Given the description of an element on the screen output the (x, y) to click on. 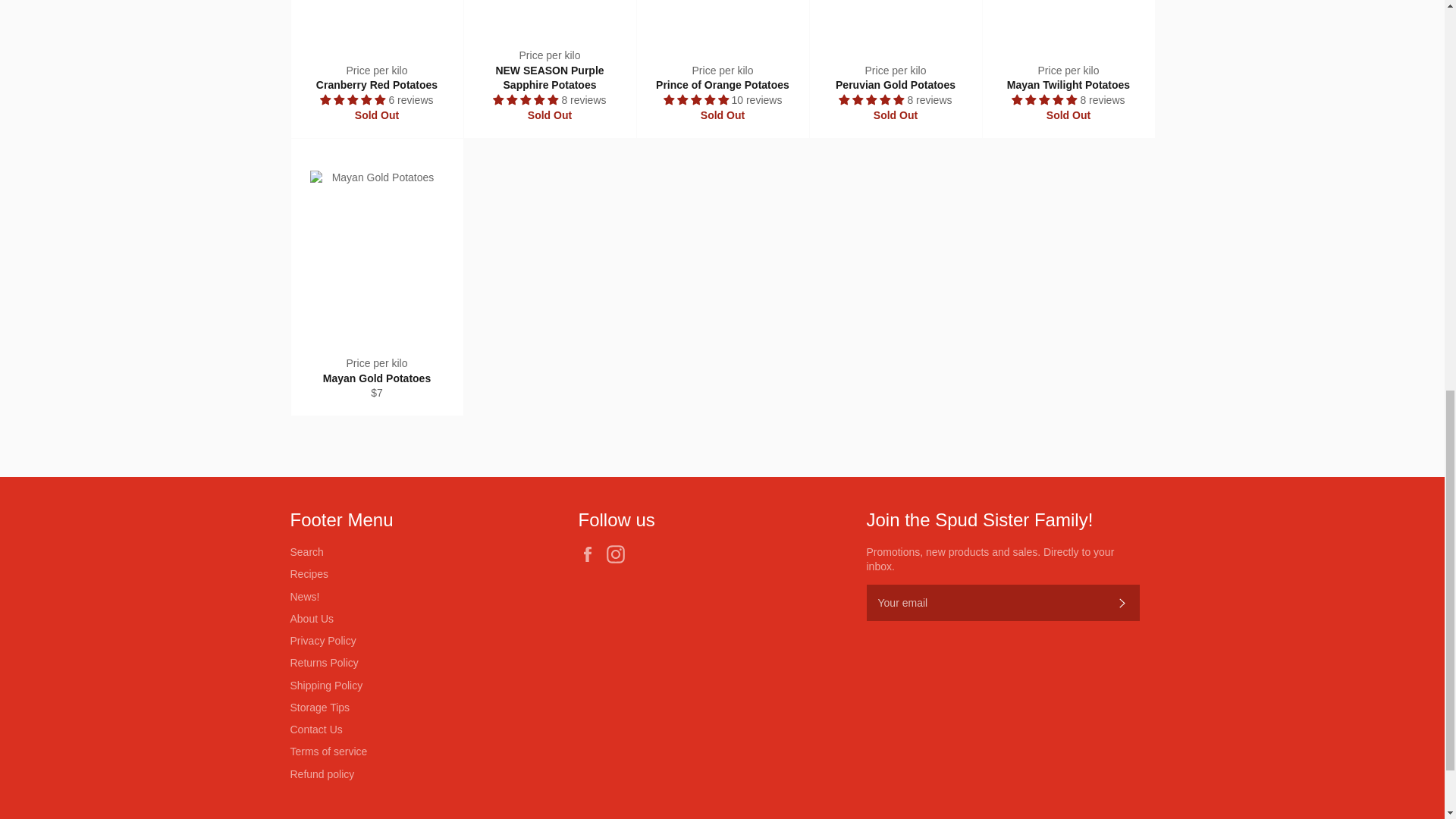
Spud Sisters on Facebook (591, 554)
Spud Sisters on Instagram (619, 554)
